Given the description of an element on the screen output the (x, y) to click on. 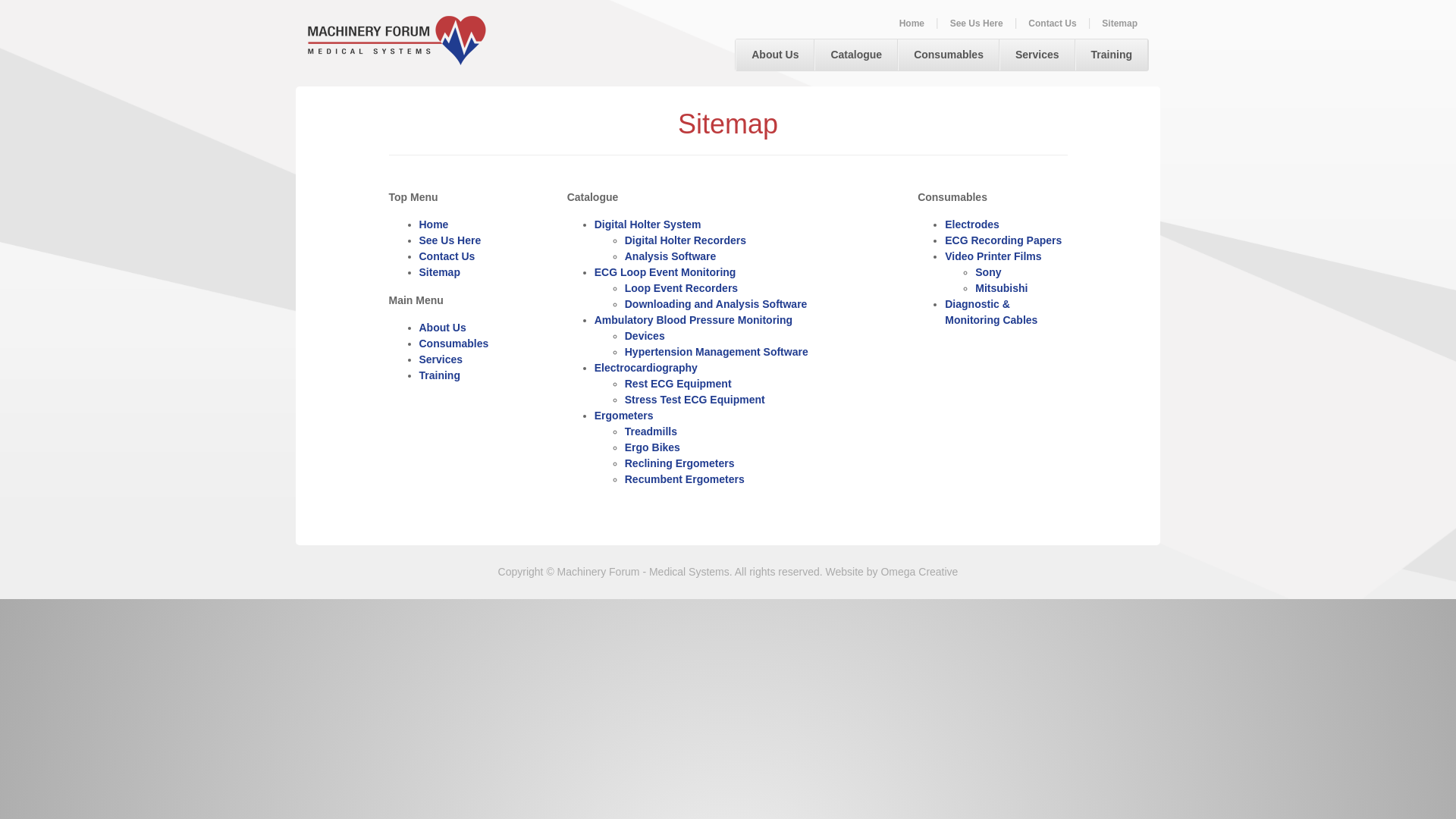
Treadmills Element type: text (650, 431)
Home Element type: text (911, 23)
Services Element type: text (1037, 54)
Ambulatory Blood Pressure Monitoring Element type: text (693, 319)
Training Element type: text (438, 375)
Recumbent Ergometers Element type: text (684, 479)
ECG Loop Event Monitoring Element type: text (665, 272)
Services Element type: text (440, 359)
Electrocardiography Element type: text (645, 367)
Sitemap Element type: text (438, 272)
ECG Recording Papers Element type: text (1002, 240)
Contact Us Element type: text (1051, 23)
Stress Test ECG Equipment Element type: text (694, 399)
Ergo Bikes Element type: text (652, 447)
Catalogue Element type: text (856, 54)
Reclining Ergometers Element type: text (679, 463)
About Us Element type: text (774, 54)
Sitemap Element type: text (1119, 23)
Mitsubishi Element type: text (1001, 288)
Video Printer Films Element type: text (992, 256)
Diagnostic & Monitoring Cables Element type: text (990, 312)
Ergometers Element type: text (623, 415)
Rest ECG Equipment Element type: text (677, 383)
Digital Holter Recorders Element type: text (685, 240)
Consumables Element type: text (453, 343)
Devices Element type: text (644, 335)
Analysis Software Element type: text (670, 256)
Training Element type: text (1111, 54)
Loop Event Recorders Element type: text (680, 288)
Hypertension Management Software Element type: text (716, 351)
Contact Us Element type: text (446, 256)
Electrodes Element type: text (971, 224)
Downloading and Analysis Software Element type: text (715, 304)
About Us Element type: text (441, 327)
Machinery Forum Element type: hover (396, 40)
Digital Holter System Element type: text (647, 224)
Home Element type: text (433, 224)
Sony Element type: text (988, 272)
See Us Here Element type: text (976, 23)
Consumables Element type: text (948, 54)
See Us Here Element type: text (449, 240)
